Given the description of an element on the screen output the (x, y) to click on. 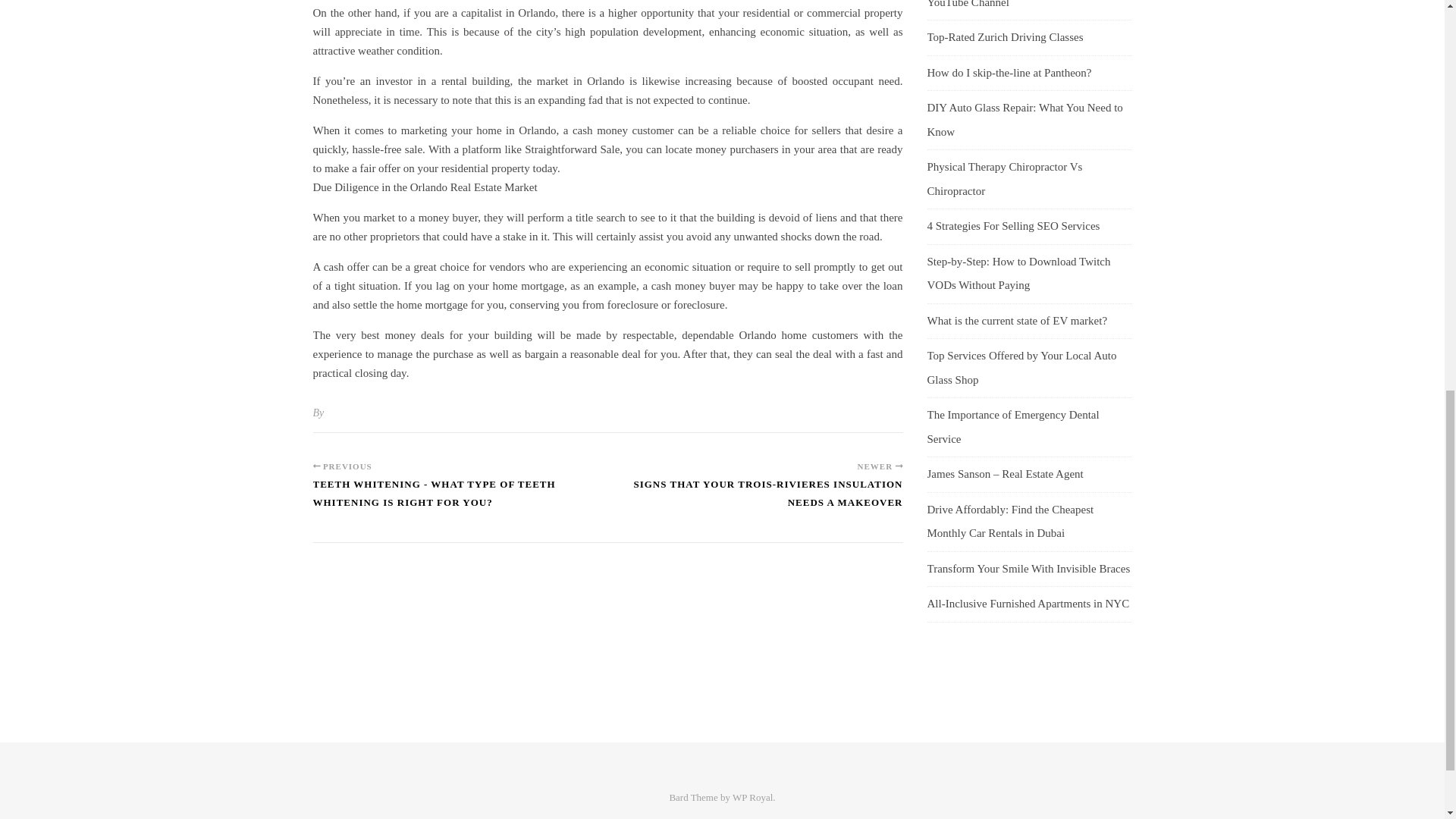
Top-Rated Zurich Driving Classes (1004, 37)
The Importance of Emergency Dental Service (1012, 426)
How to Grab Twitch Videos For Your YouTube Channel (1011, 4)
All-Inclusive Furnished Apartments in NYC (1027, 603)
DIY Auto Glass Repair: What You Need to Know (1024, 119)
SIGNS THAT YOUR TROIS-RIVIERES INSULATION NEEDS A MAKEOVER (755, 500)
Transform Your Smile With Invisible Braces (1027, 568)
Physical Therapy Chiropractor Vs Chiropractor (1003, 178)
What is the current state of EV market? (1016, 319)
